Given the description of an element on the screen output the (x, y) to click on. 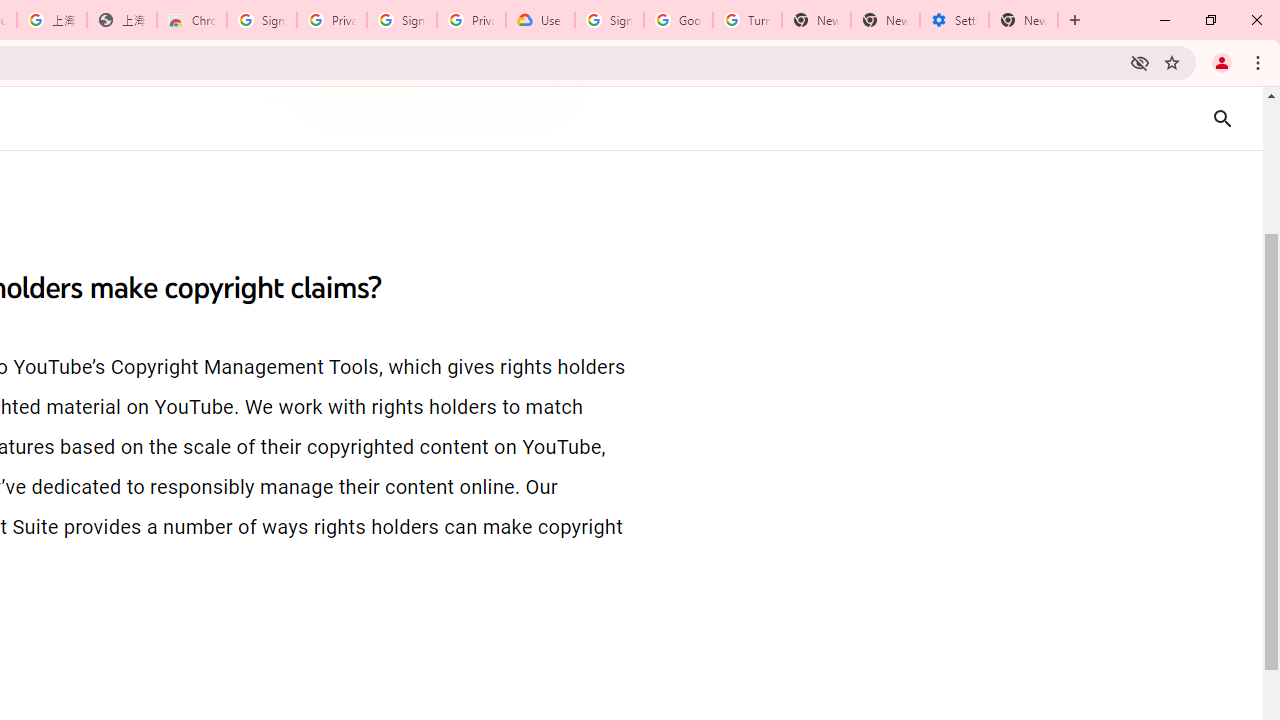
Restore (1210, 20)
Minimize (1165, 20)
Chrome (1260, 62)
Chrome Web Store - Color themes by Chrome (191, 20)
Sign in - Google Accounts (401, 20)
Settings - System (954, 20)
Search (1222, 118)
